Given the description of an element on the screen output the (x, y) to click on. 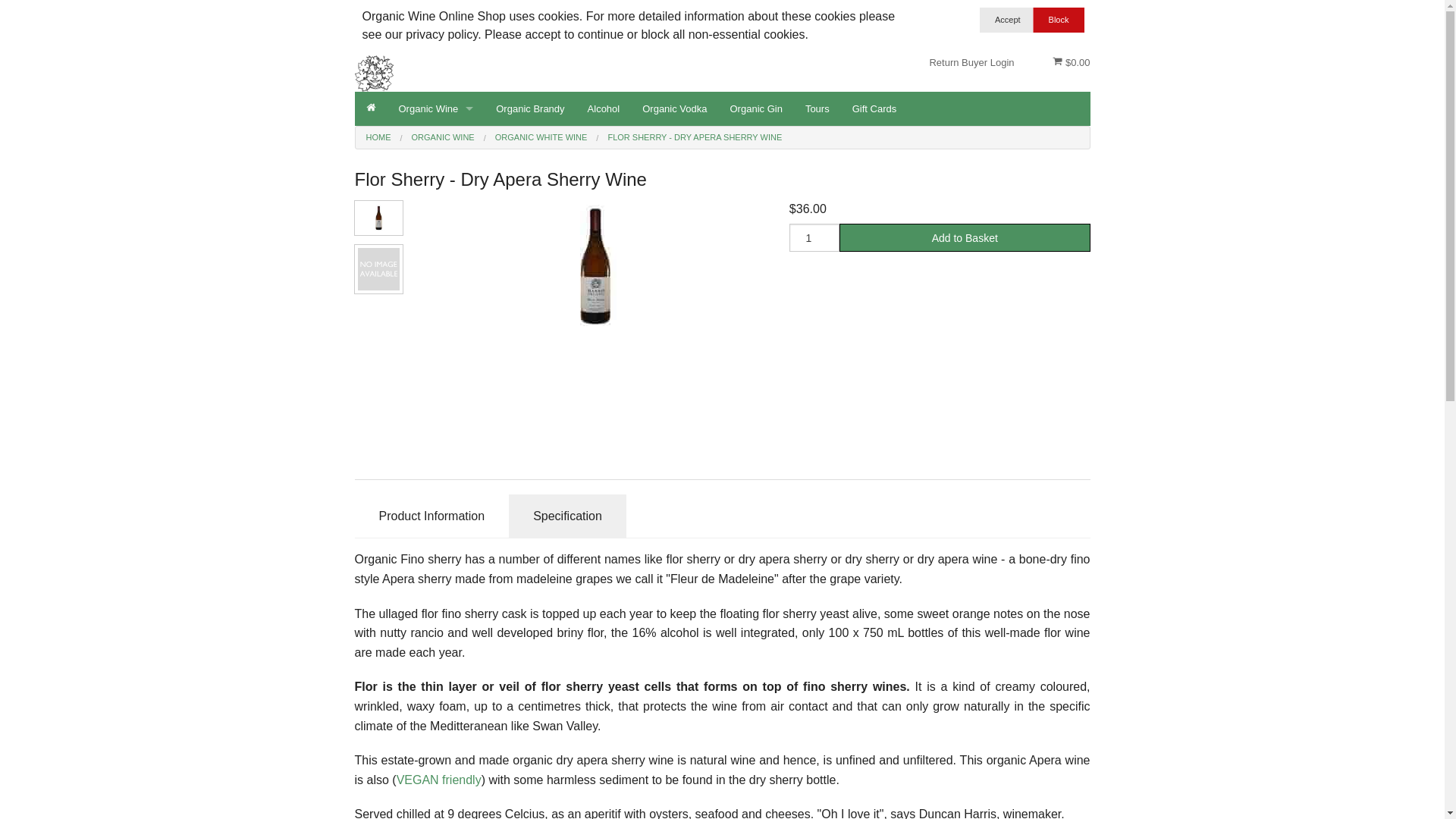
Organic Wine Element type: text (435, 108)
Block Element type: text (1058, 19)
ORGANIC WINE Element type: text (442, 136)
Gift Cards Element type: text (874, 108)
$0.00 Element type: text (1070, 62)
Home Element type: hover (370, 108)
Specials Element type: text (435, 230)
Tours Element type: text (816, 108)
Return Buyer Login Element type: text (970, 62)
FLOR SHERRY - DRY APERA SHERRY WINE Element type: text (694, 136)
Product Information Element type: text (431, 516)
HOME Element type: text (377, 136)
Organic Vodka Element type: text (674, 108)
Sweet & Dessert Element type: text (435, 195)
Organic Gin Element type: text (755, 108)
Alcohol Element type: text (603, 108)
ORGANIC WHITE WINE Element type: text (541, 136)
Organic Brandy Element type: text (529, 108)
VEGAN friendly Element type: text (438, 779)
Specification Element type: text (567, 516)
Old & Rare Wine Element type: text (435, 298)
Organic Sparkling Wine Element type: text (435, 332)
Accept Element type: text (1007, 19)
Organic White Wine Element type: text (435, 264)
Organic Red Wine Element type: text (435, 161)
Add to Basket Element type: text (964, 237)
